Given the description of an element on the screen output the (x, y) to click on. 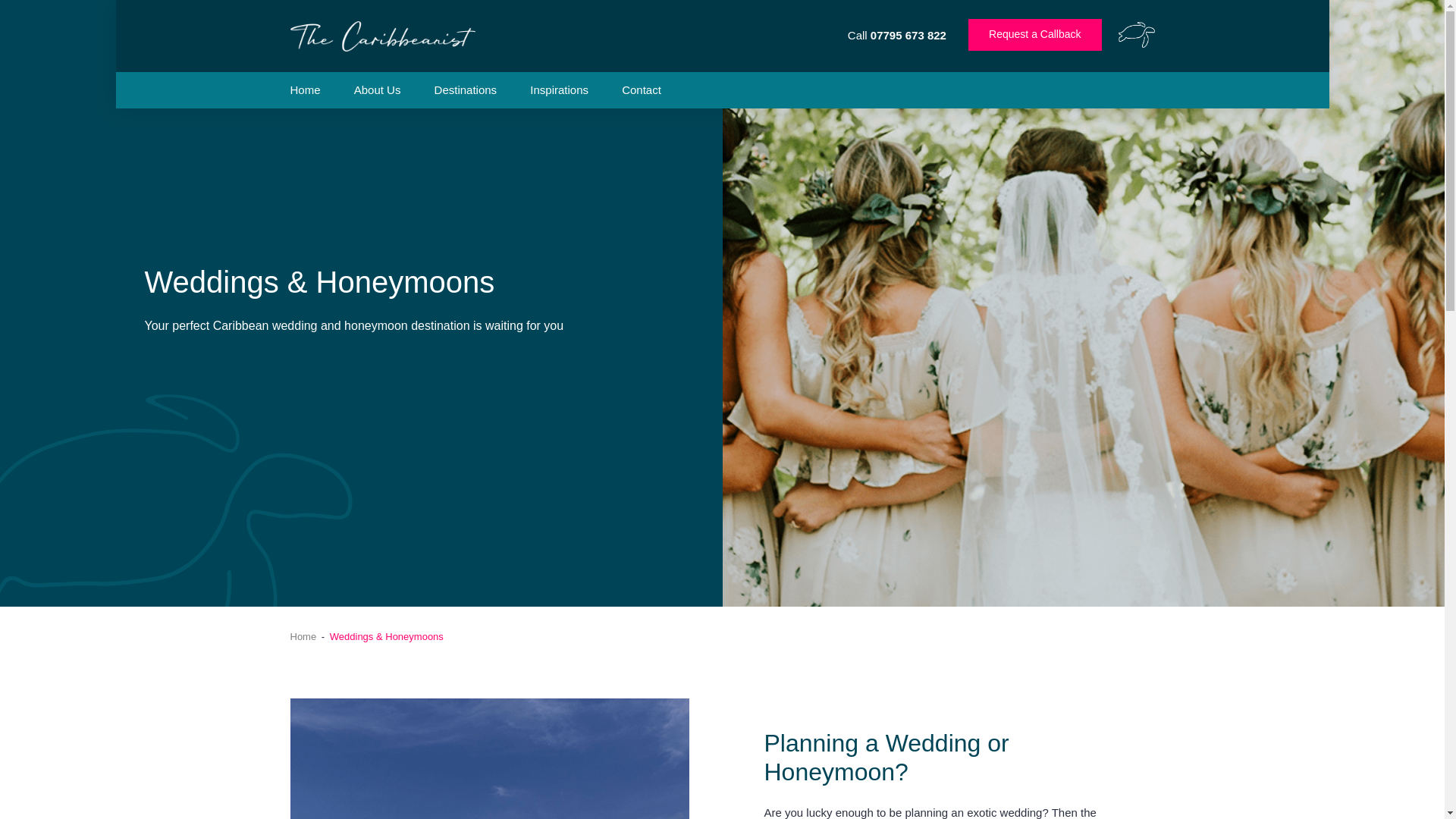
Request a Callback (1034, 34)
07795 673 822 (908, 34)
About Us (377, 90)
Home (304, 90)
Destinations (465, 90)
Contact (641, 90)
Inspirations (558, 90)
